Given the description of an element on the screen output the (x, y) to click on. 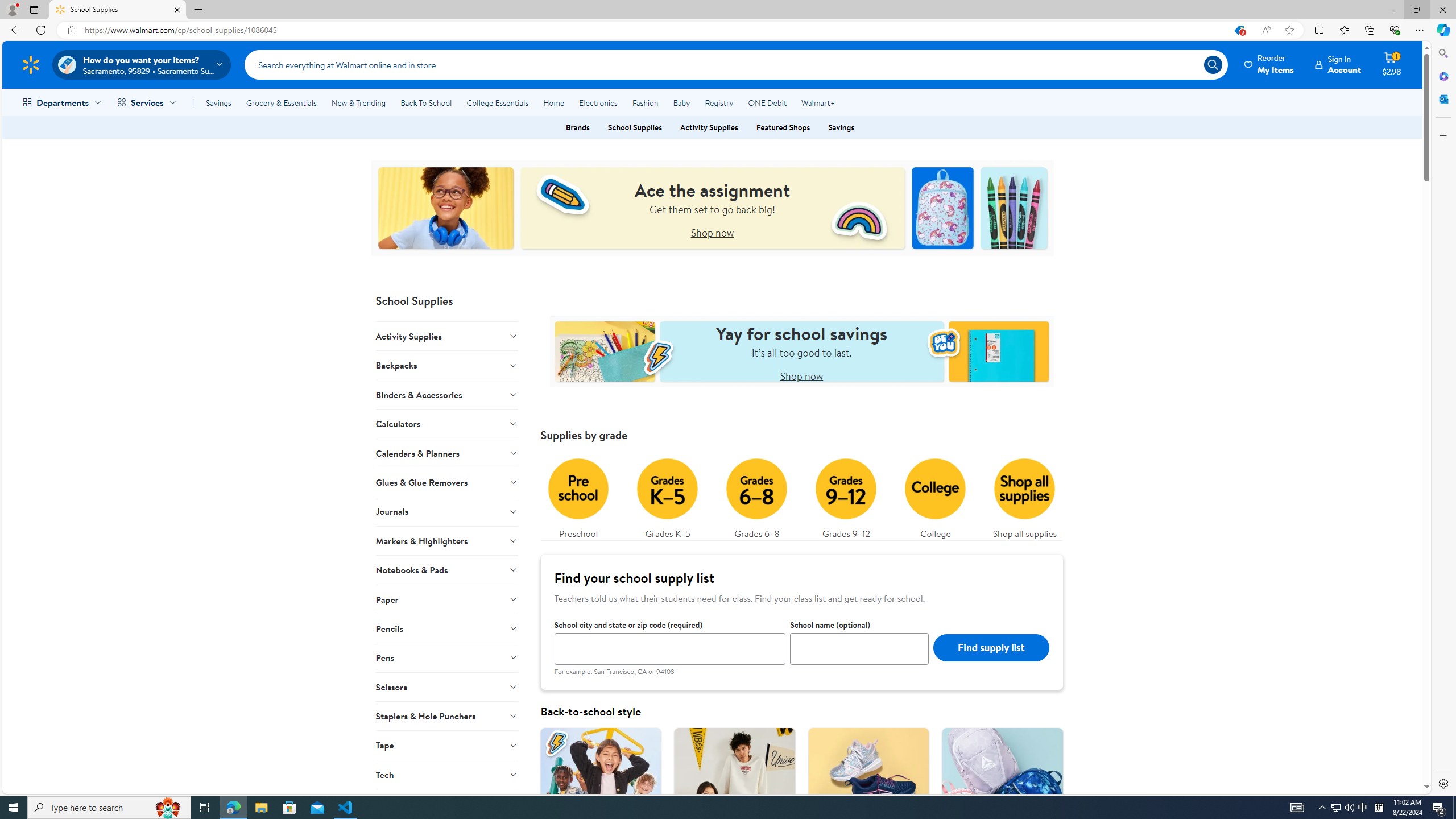
This site has coupons! Shopping in Microsoft Edge, 7 (1239, 29)
School city and state or zip code (required) (669, 648)
Shop now (802, 375)
Electronics (598, 102)
Back To School (425, 102)
Featured Shops (782, 126)
Reorder My Items (1269, 64)
